Given the description of an element on the screen output the (x, y) to click on. 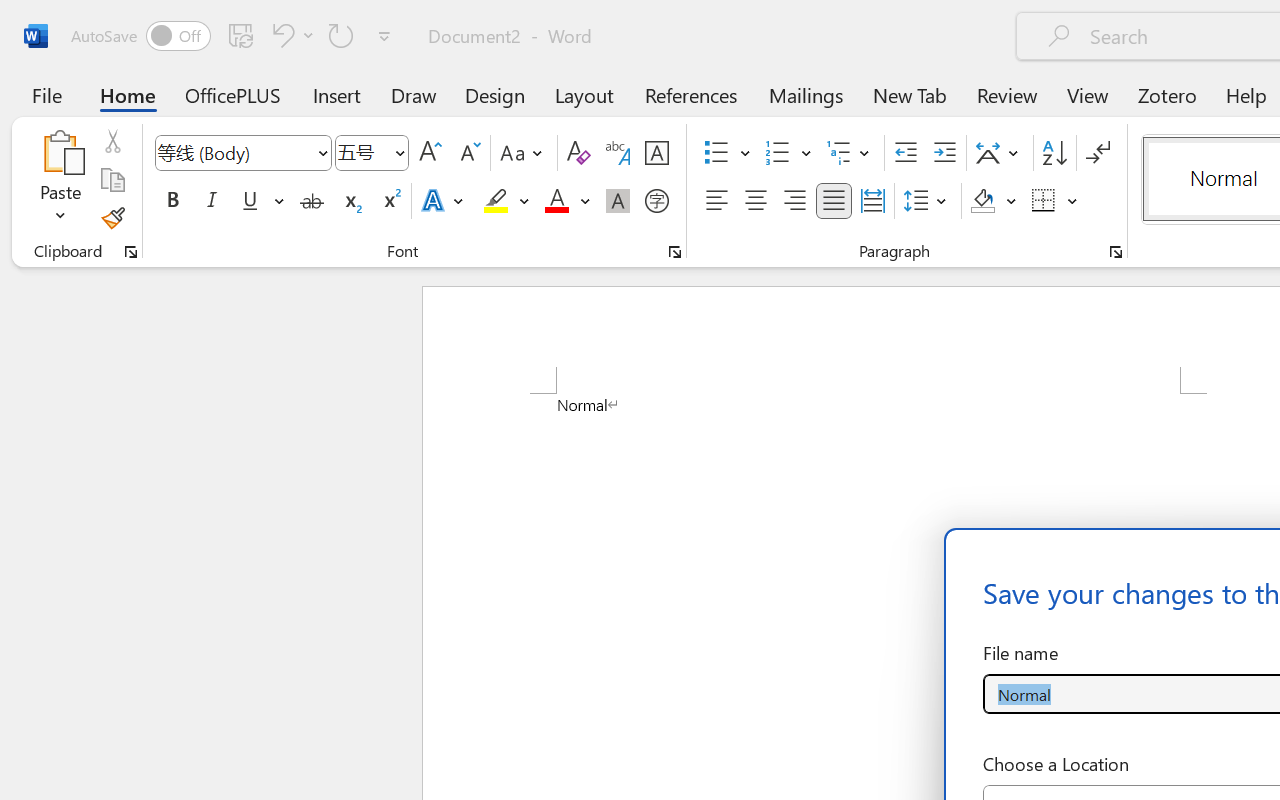
Borders (1044, 201)
Grow Font (430, 153)
Shading (993, 201)
Text Effects and Typography (444, 201)
Repeat Style (341, 35)
Copy (112, 179)
Strikethrough (312, 201)
Change Case (524, 153)
Asian Layout (1000, 153)
Design (495, 94)
Review (1007, 94)
Format Painter (112, 218)
Enclose Characters... (656, 201)
Sort... (1054, 153)
